Given the description of an element on the screen output the (x, y) to click on. 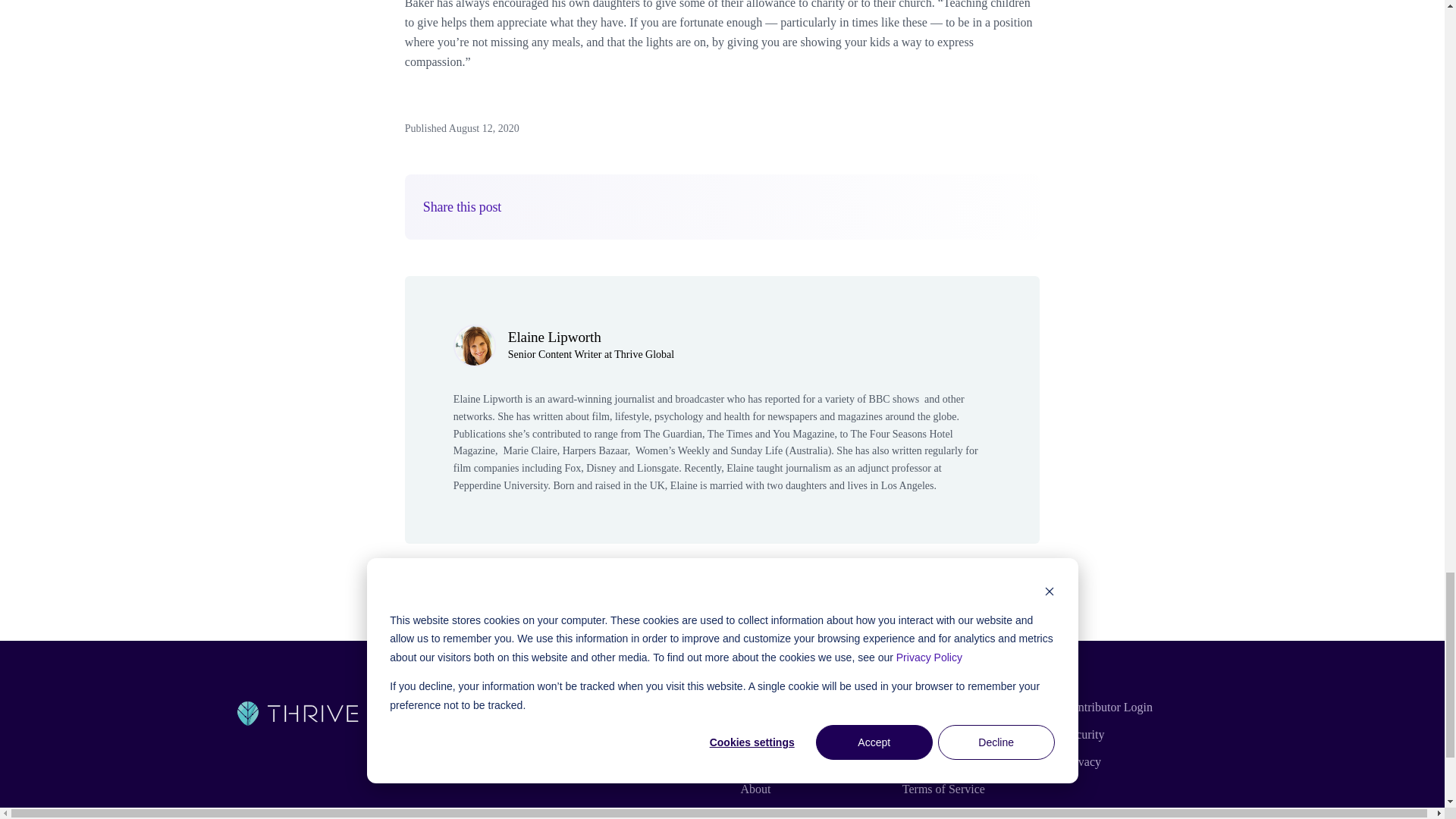
Elaine Lipworth (554, 336)
